Given the description of an element on the screen output the (x, y) to click on. 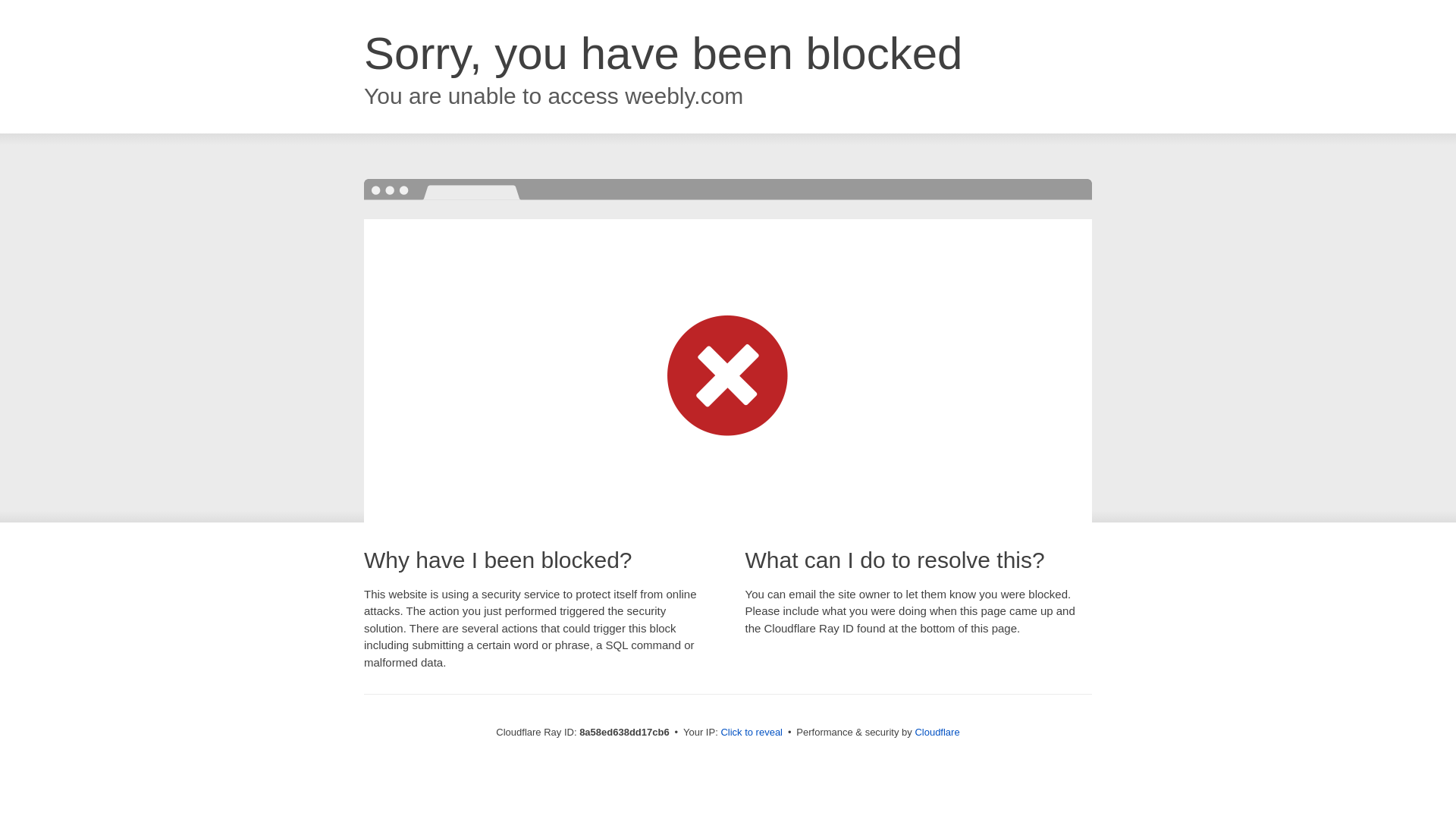
Click to reveal (751, 732)
Cloudflare (936, 731)
